Given the description of an element on the screen output the (x, y) to click on. 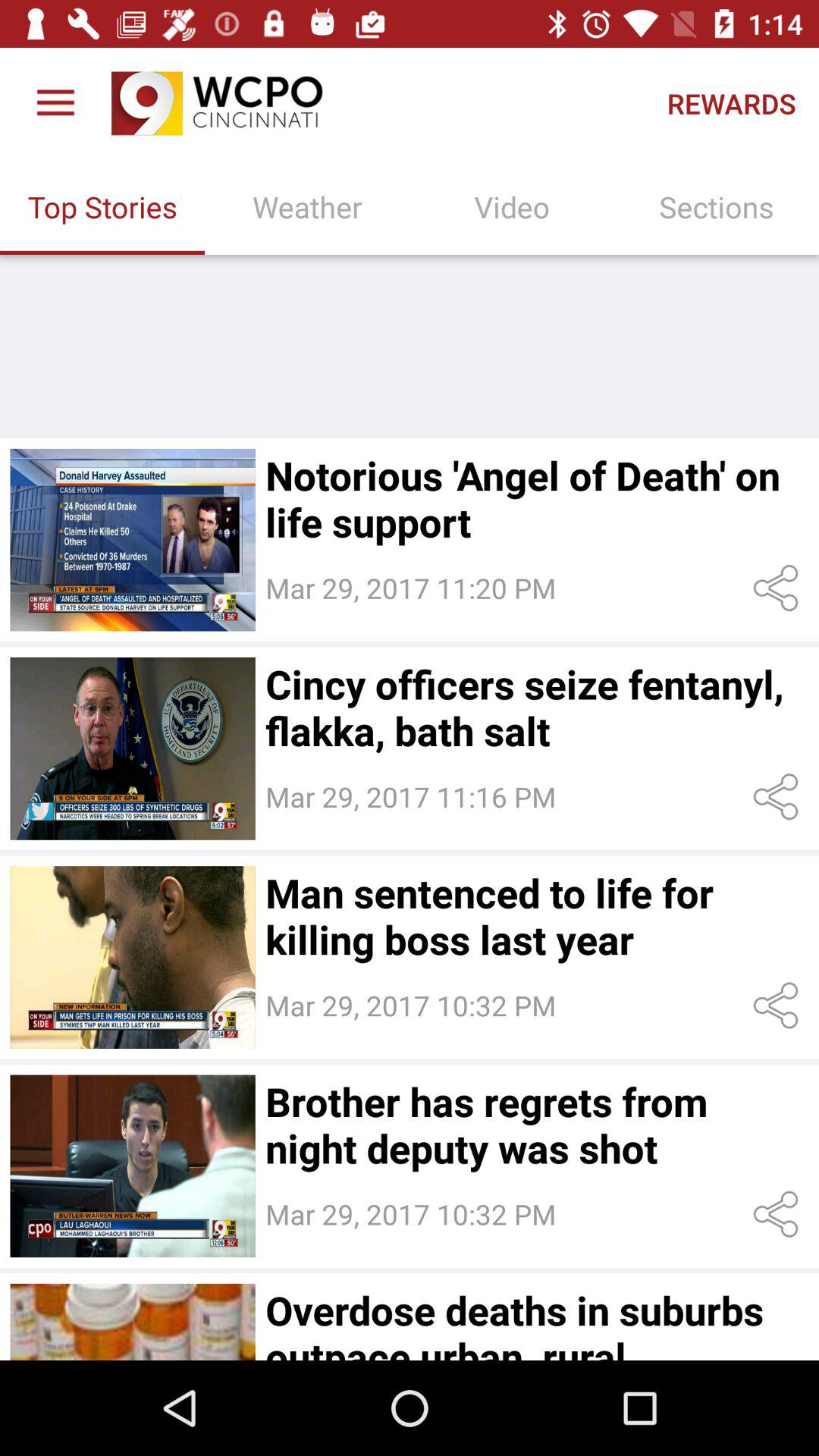
open link (778, 1005)
